Given the description of an element on the screen output the (x, y) to click on. 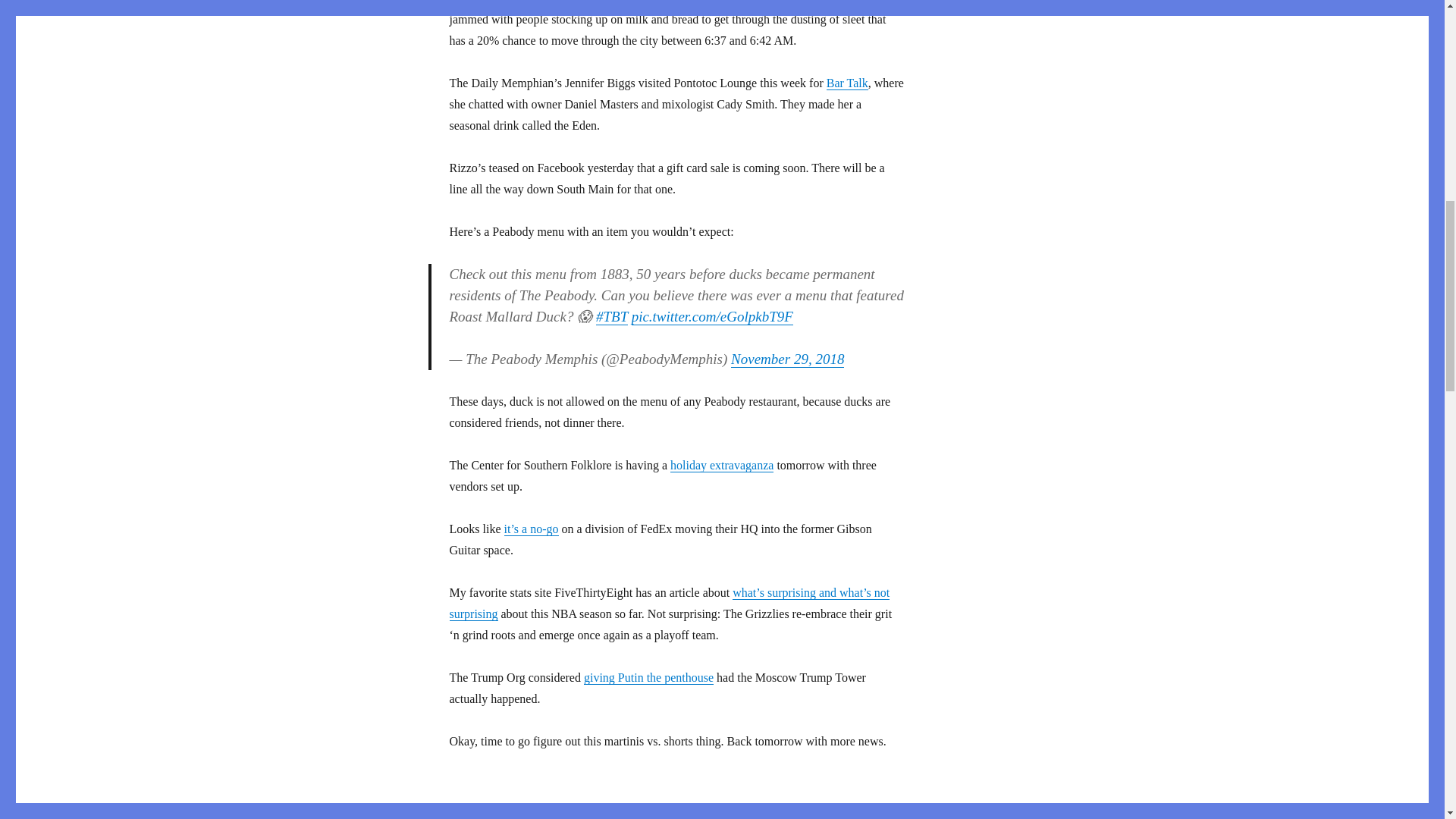
Midtown Krogers (753, 2)
giving Putin the penthouse (648, 676)
November 29, 2018 (787, 358)
Bar Talk (847, 82)
holiday extravaganza (721, 464)
